Given the description of an element on the screen output the (x, y) to click on. 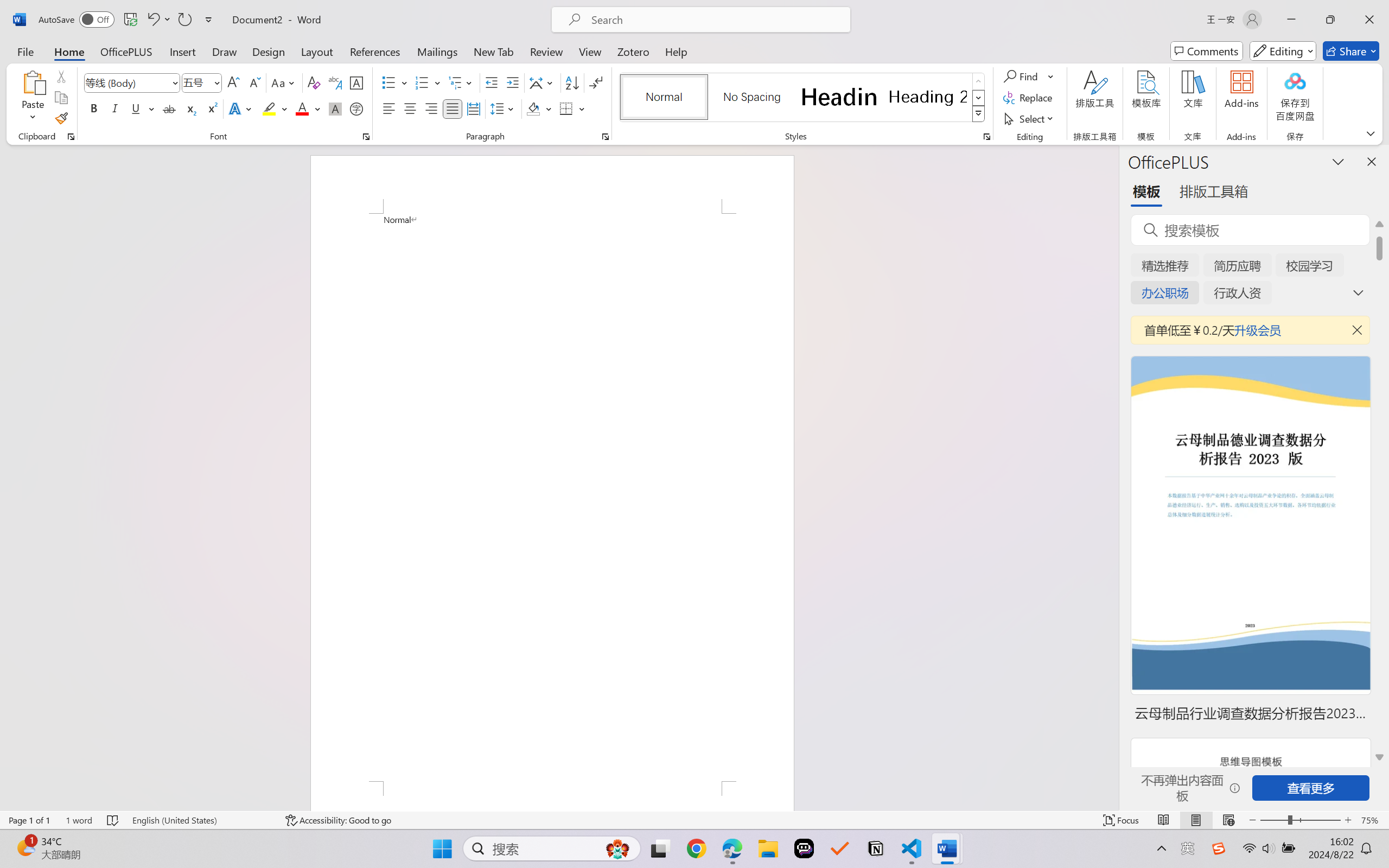
Help (675, 51)
More Options (1051, 75)
Review (546, 51)
Numbering (421, 82)
Word Count 1 word (78, 819)
Underline (135, 108)
Spelling and Grammar Check No Errors (113, 819)
Character Shading (334, 108)
Class: MsoCommandBar (694, 819)
Web Layout (1228, 819)
Styles... (986, 136)
Restore Down (1330, 19)
